Given the description of an element on the screen output the (x, y) to click on. 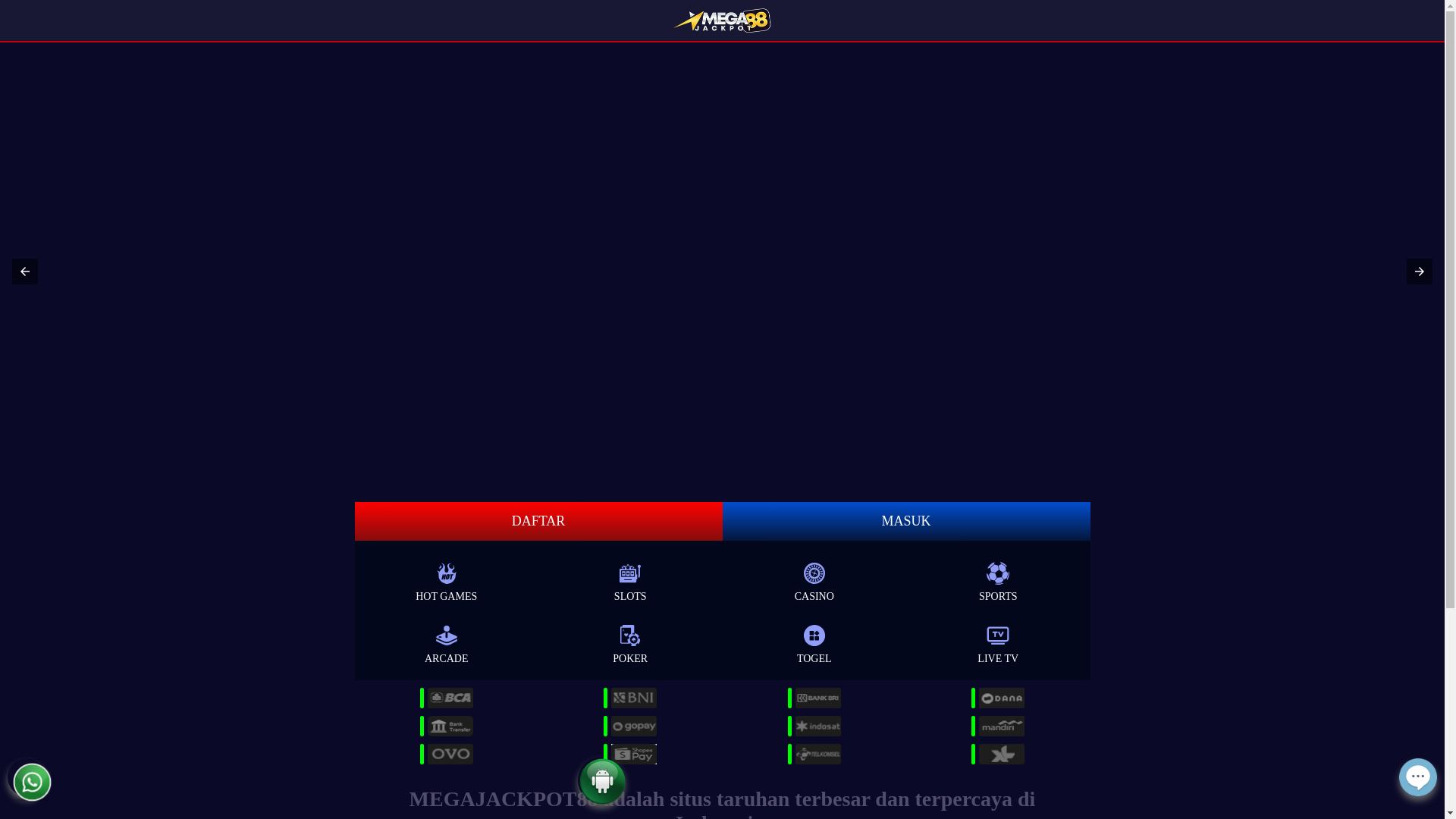
Previous item in carousel (1 of 3) Element type: hover (24, 271)
ARCADE Element type: text (445, 641)
MASUK Element type: text (905, 521)
CASINO Element type: text (814, 579)
POKER Element type: text (630, 641)
Next item in carousel (3 of 3) Element type: hover (1419, 271)
Download APK Element type: hover (602, 796)
TOGEL Element type: text (814, 641)
SPORTS Element type: text (998, 579)
SLOTS Element type: text (630, 579)
Live Chat Element type: hover (1418, 786)
HOT GAMES Element type: text (445, 579)
LIVE TV Element type: text (998, 641)
DAFTAR Element type: text (538, 521)
